Given the description of an element on the screen output the (x, y) to click on. 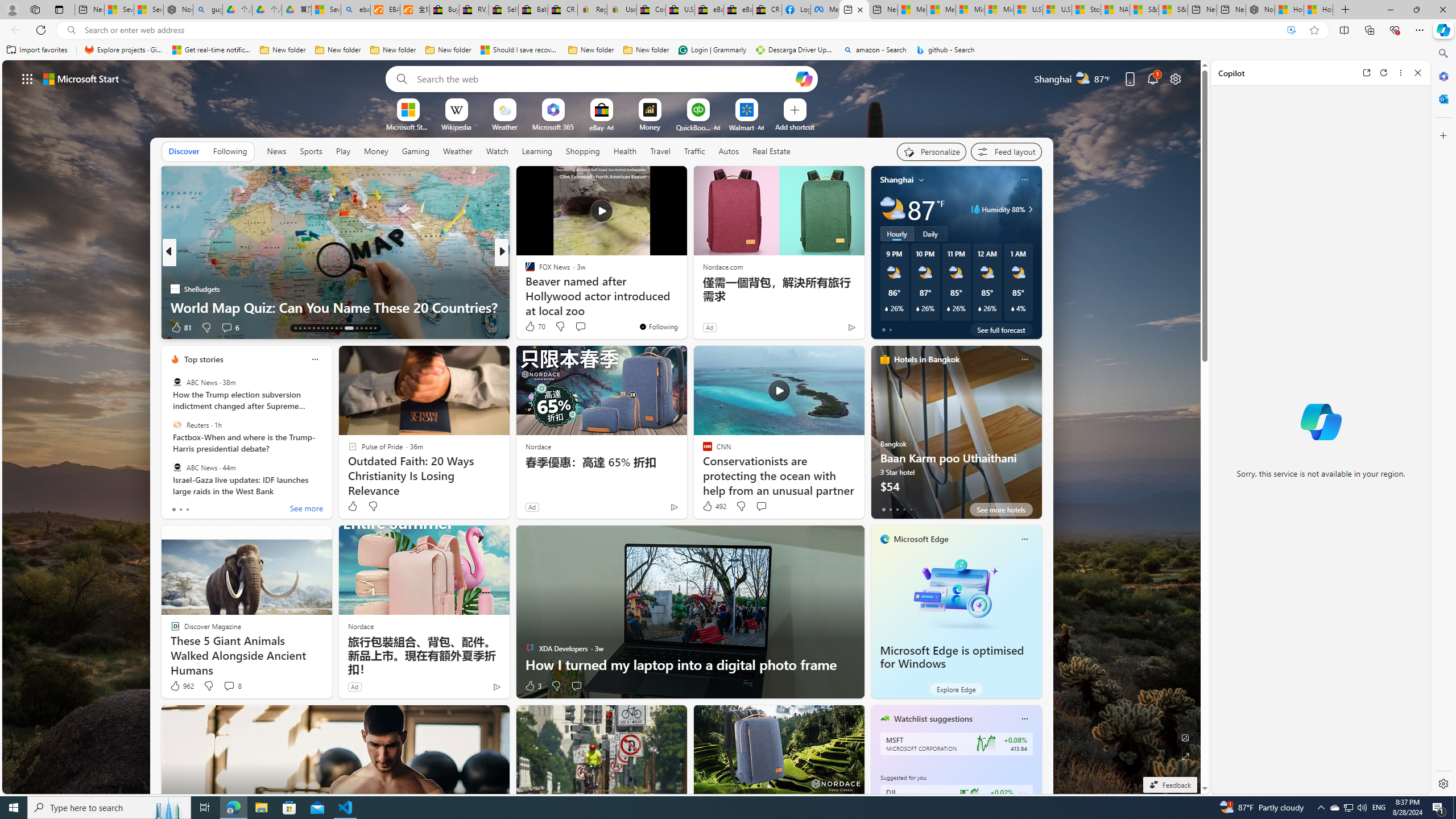
Baby Keepsakes & Announcements for sale | eBay (533, 9)
Gaming (415, 151)
